Given the description of an element on the screen output the (x, y) to click on. 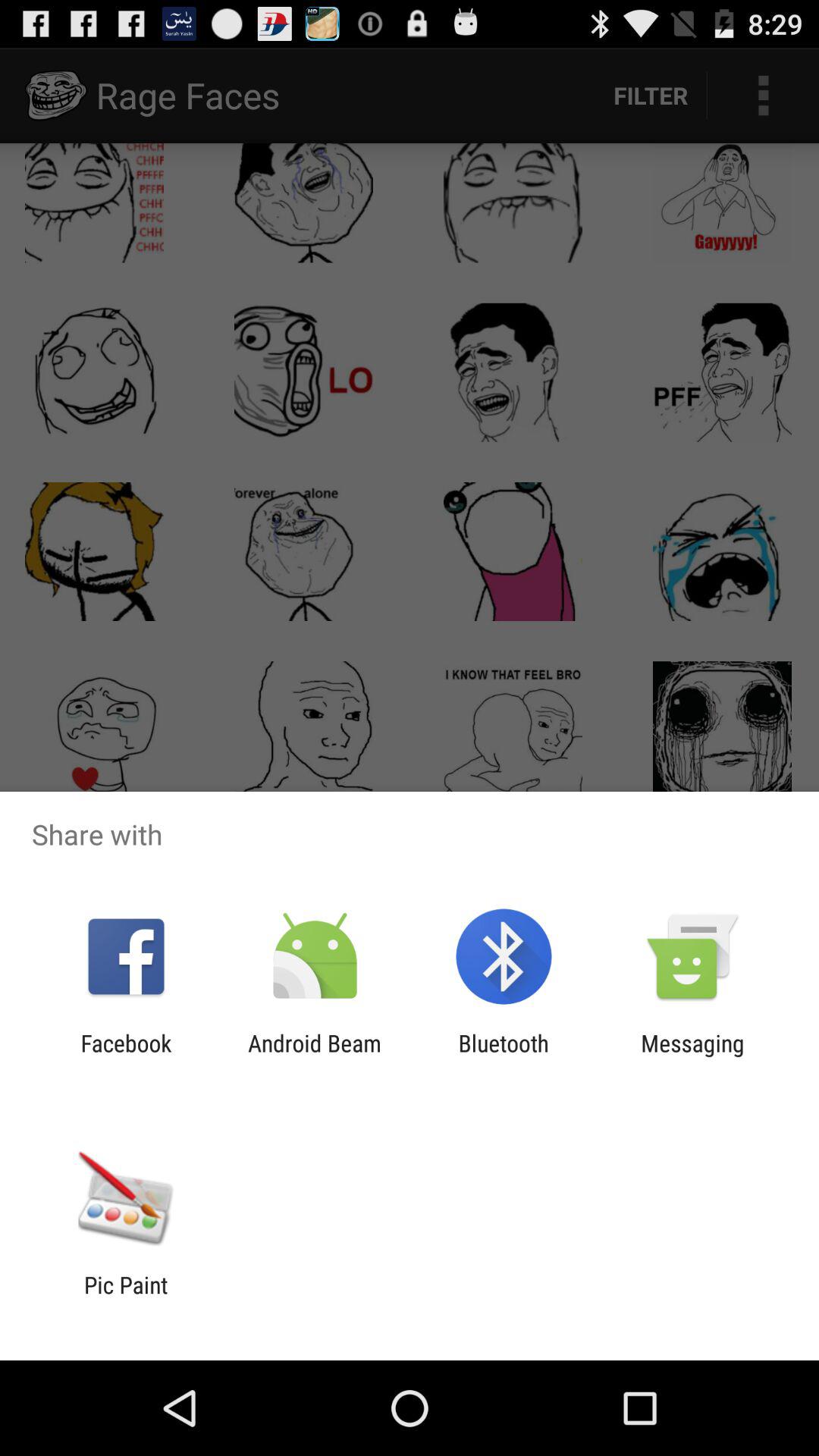
turn on the app to the right of bluetooth item (692, 1056)
